Given the description of an element on the screen output the (x, y) to click on. 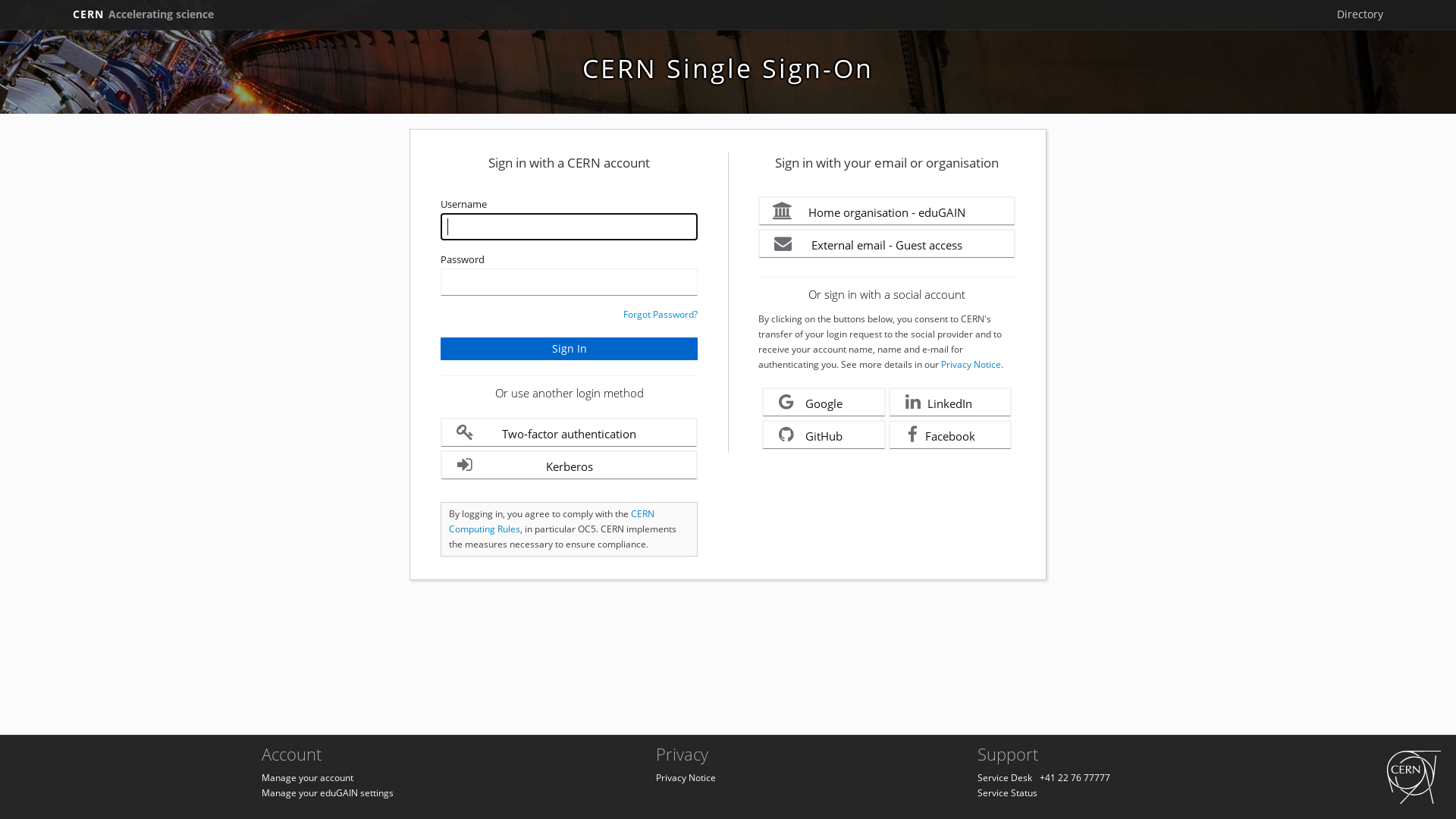
Privacy Notice Element type: text (685, 777)
Forgot Password? Element type: text (660, 313)
Google Element type: text (823, 402)
Home organisation - eduGAIN Element type: text (886, 210)
LinkedIn Element type: text (950, 402)
+41 22 76 77777 Element type: text (1074, 777)
CERN Accelerating science Element type: text (142, 14)
Sign In Element type: text (568, 348)
Kerberos Element type: text (568, 465)
Manage your eduGAIN settings Element type: text (327, 792)
GitHub Element type: text (823, 434)
Service Status Element type: text (1007, 792)
Directory Element type: text (1359, 14)
Two-factor authentication Element type: text (568, 432)
Privacy Notice Element type: text (971, 363)
External email - Guest access Element type: text (886, 243)
CERN Computing Rules Element type: text (551, 521)
Manage your account Element type: text (307, 777)
Facebook Element type: text (950, 434)
Service Desk Element type: text (1004, 777)
